Given the description of an element on the screen output the (x, y) to click on. 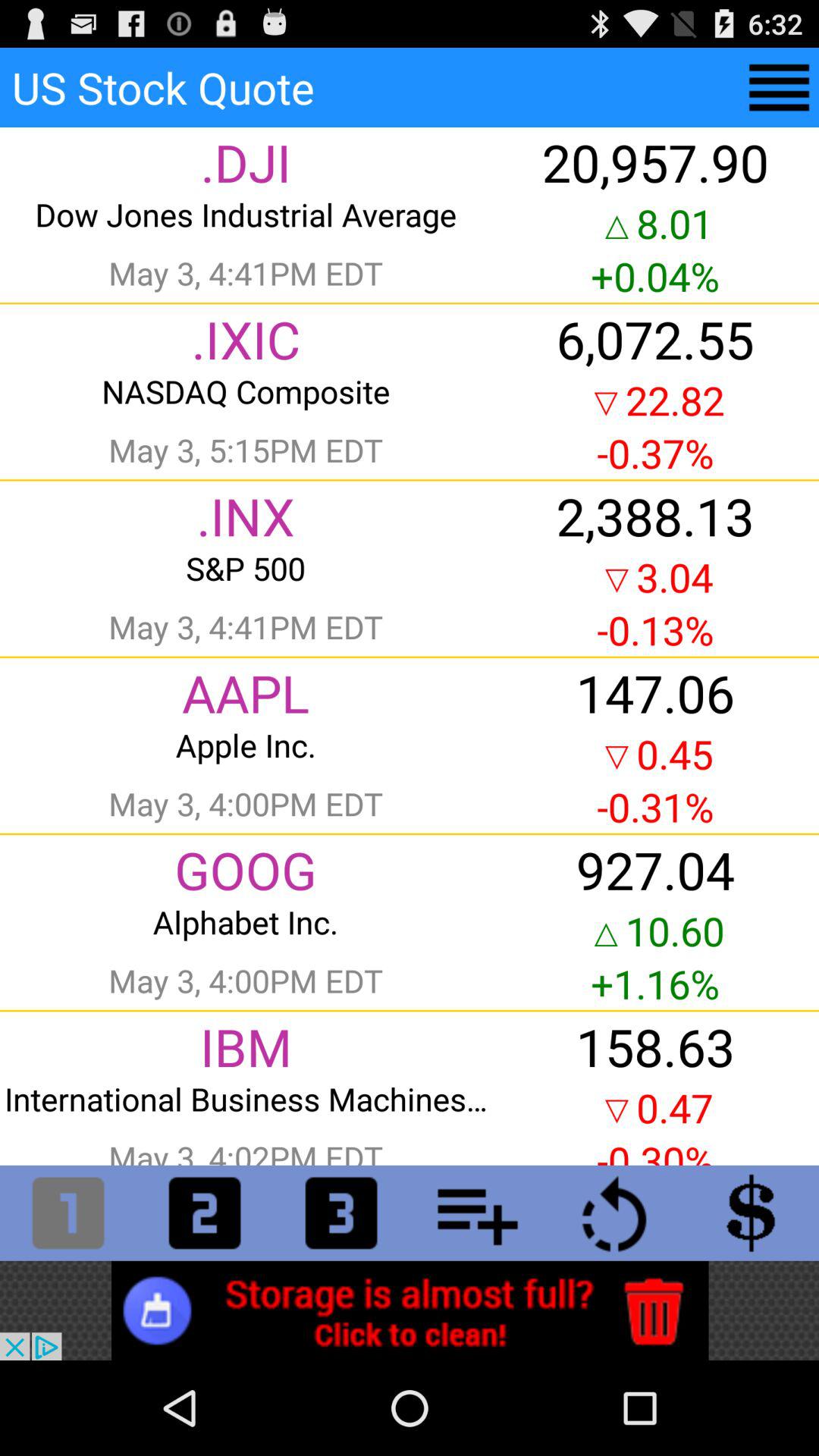
view type (341, 1212)
